Given the description of an element on the screen output the (x, y) to click on. 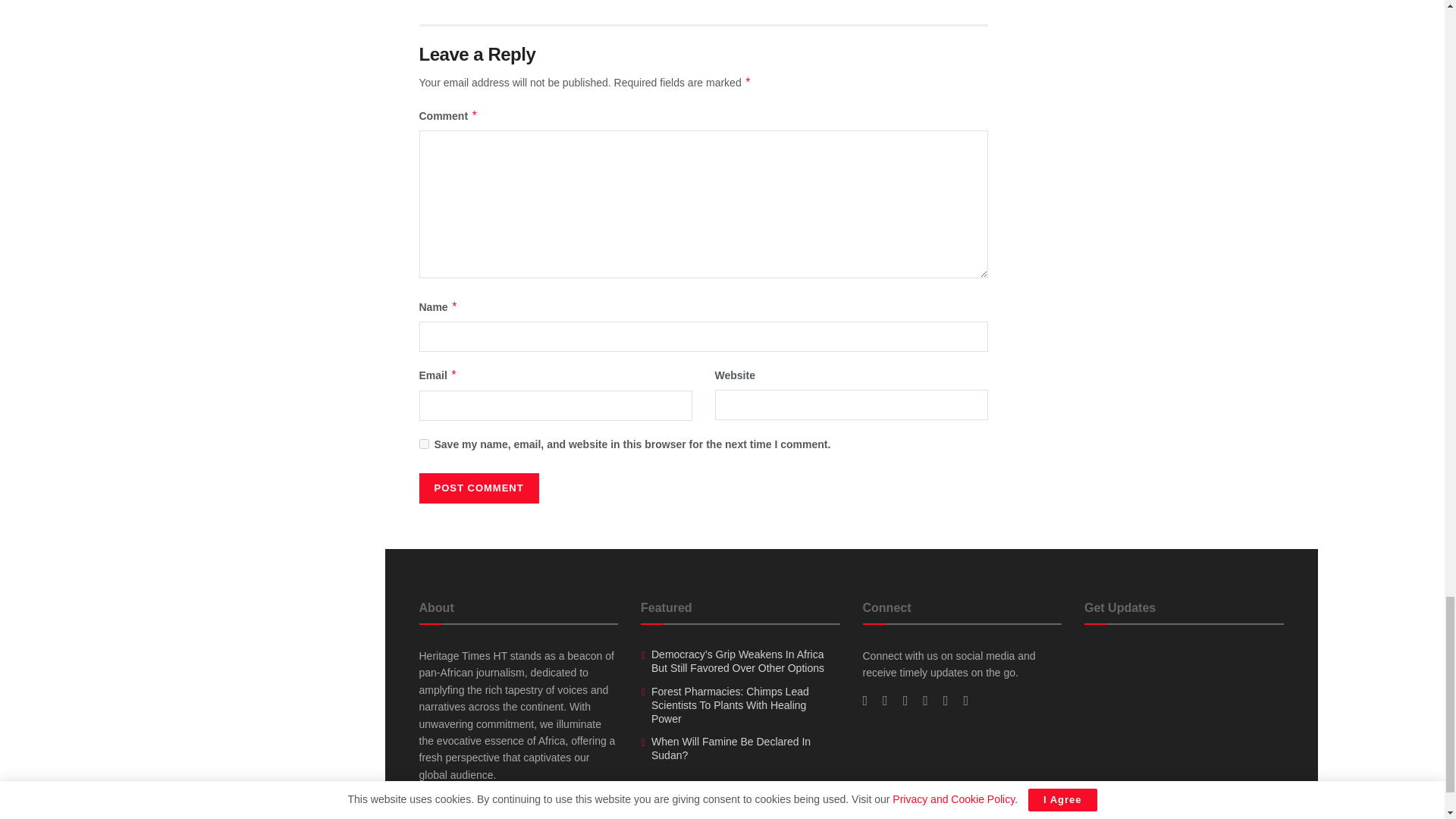
Post Comment (478, 488)
yes (423, 443)
